Given the description of an element on the screen output the (x, y) to click on. 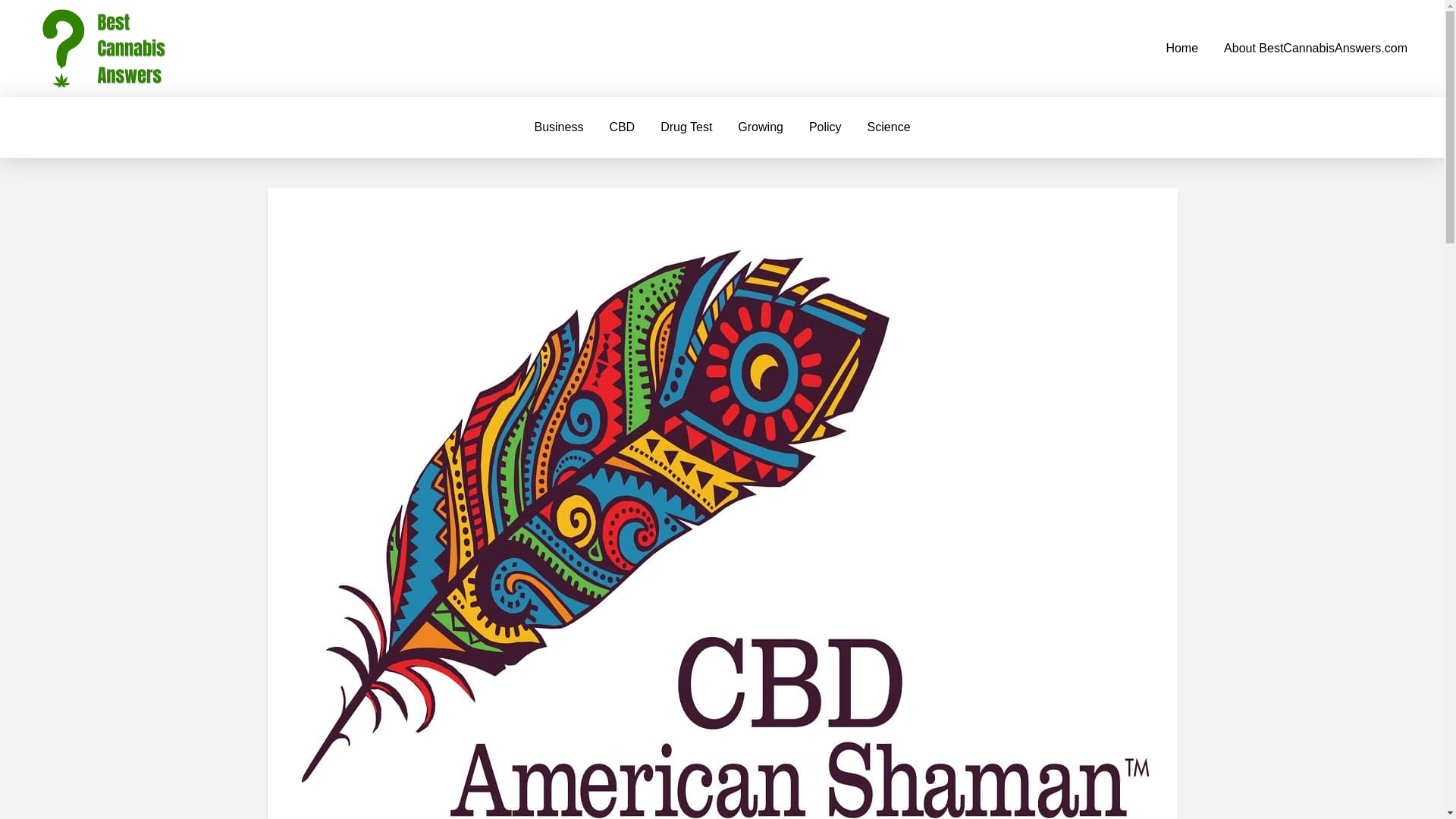
Science (888, 127)
About BestCannabisAnswers.com (1316, 48)
Growing (760, 127)
Drug Test (686, 127)
CBD (621, 127)
Business (558, 127)
Policy (825, 127)
